Given the description of an element on the screen output the (x, y) to click on. 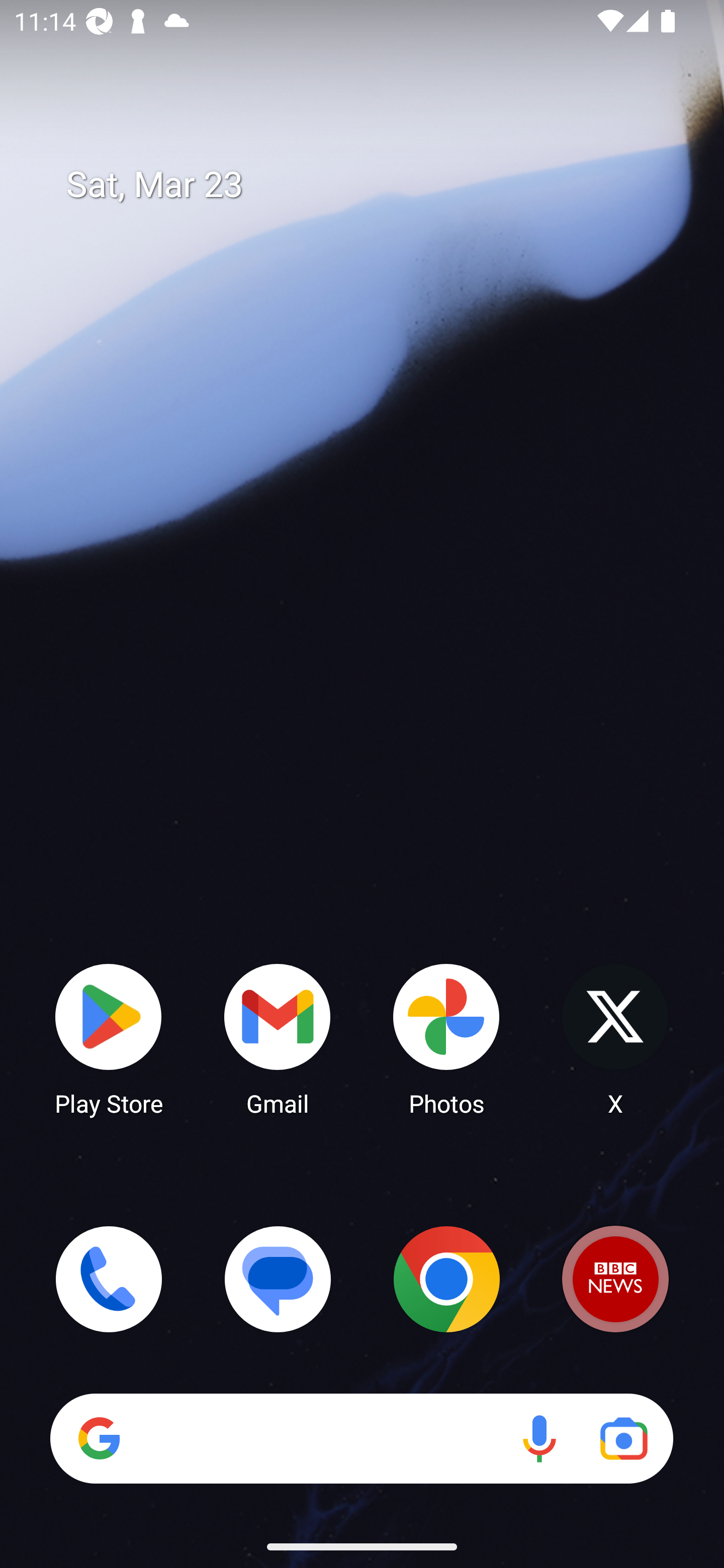
Sat, Mar 23 (375, 184)
Play Store (108, 1038)
Gmail (277, 1038)
Photos (445, 1038)
X (615, 1038)
Phone (108, 1279)
Messages (277, 1279)
Chrome (446, 1279)
BBC News Predicted app: BBC News (615, 1279)
Voice search (539, 1438)
Google Lens (623, 1438)
